Given the description of an element on the screen output the (x, y) to click on. 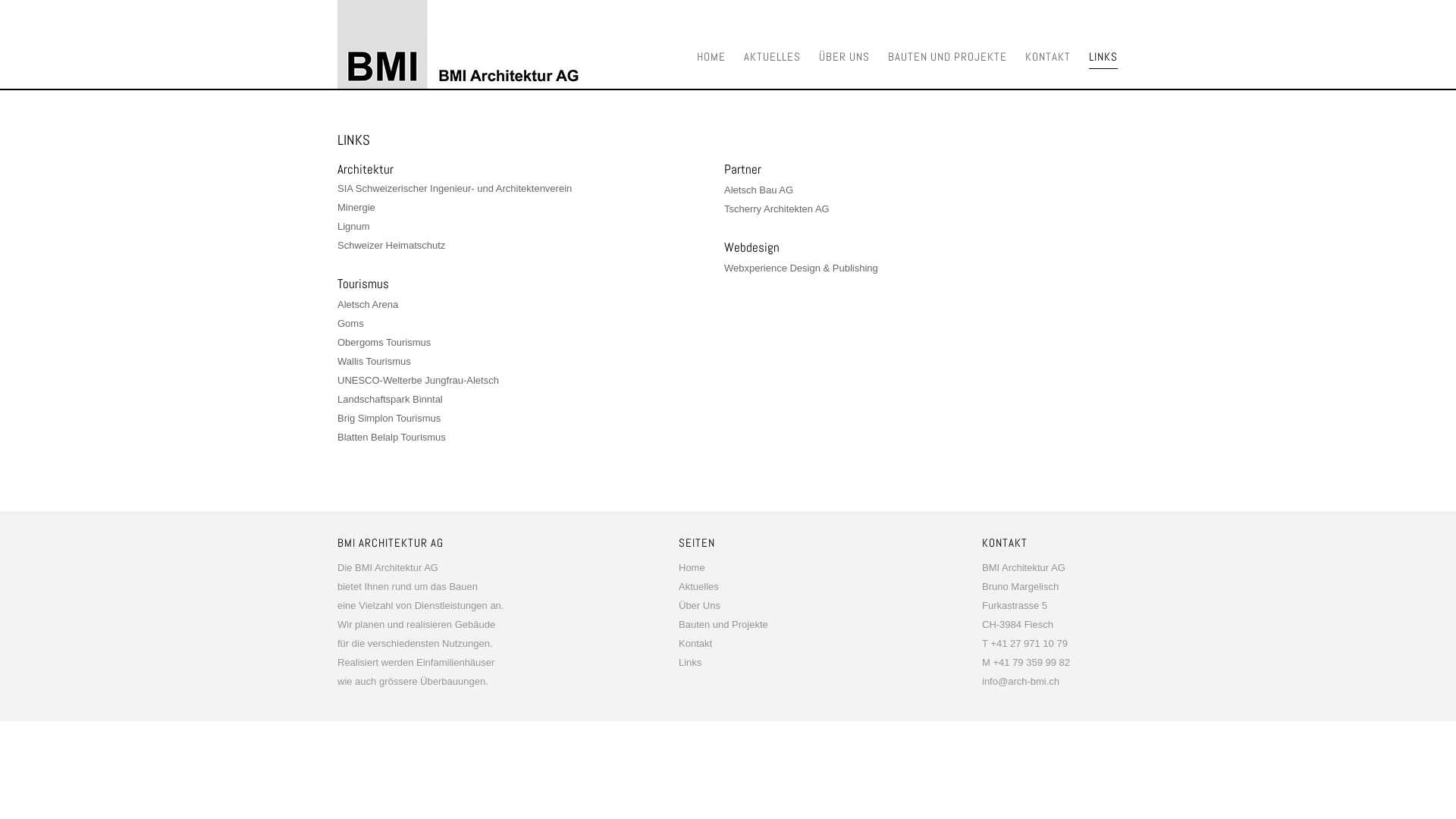
Wallis Tourismus Element type: text (374, 361)
Lignum Element type: text (353, 226)
Brig Simplon Tourismus Element type: text (388, 417)
LINKS Element type: text (1102, 49)
info@arch-bmi.ch Element type: text (1020, 681)
UNESCO-Welterbe Jungfrau-Aletsch Element type: text (417, 379)
Links Element type: text (689, 662)
Minergie Element type: text (356, 207)
Goms Element type: text (350, 323)
Webxperience Design & Publishing Element type: text (801, 267)
Aletsch Bau AG Element type: text (758, 189)
BAUTEN UND PROJEKTE Element type: text (947, 49)
SIA Schweizerischer Ingenieur- und Architektenverein Element type: text (454, 188)
Aktuelles Element type: text (698, 586)
Schweizer Heimatschutz Element type: text (391, 245)
Kontakt Element type: text (695, 643)
Obergoms Tourismus Element type: text (383, 342)
Bauten und Projekte Element type: text (723, 624)
HOME Element type: text (710, 49)
Aletsch Arena Element type: text (367, 304)
KONTAKT Element type: text (1047, 49)
Blatten Belalp Tourismus Element type: text (391, 436)
Landschaftspark Binntal Element type: text (389, 398)
AKTUELLES Element type: text (771, 49)
Home Element type: text (691, 567)
